Given the description of an element on the screen output the (x, y) to click on. 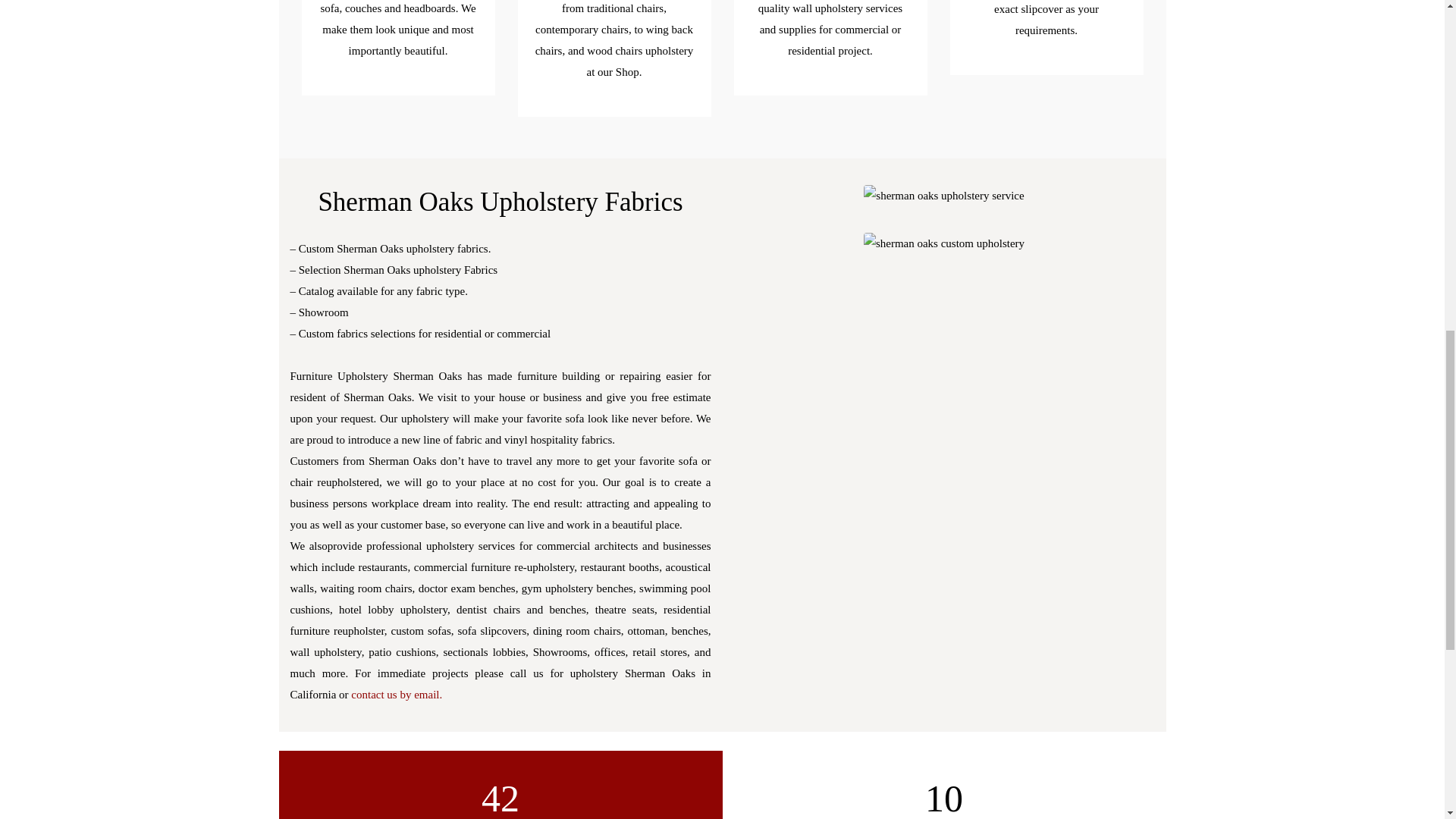
contact us by email. (396, 694)
